Given the description of an element on the screen output the (x, y) to click on. 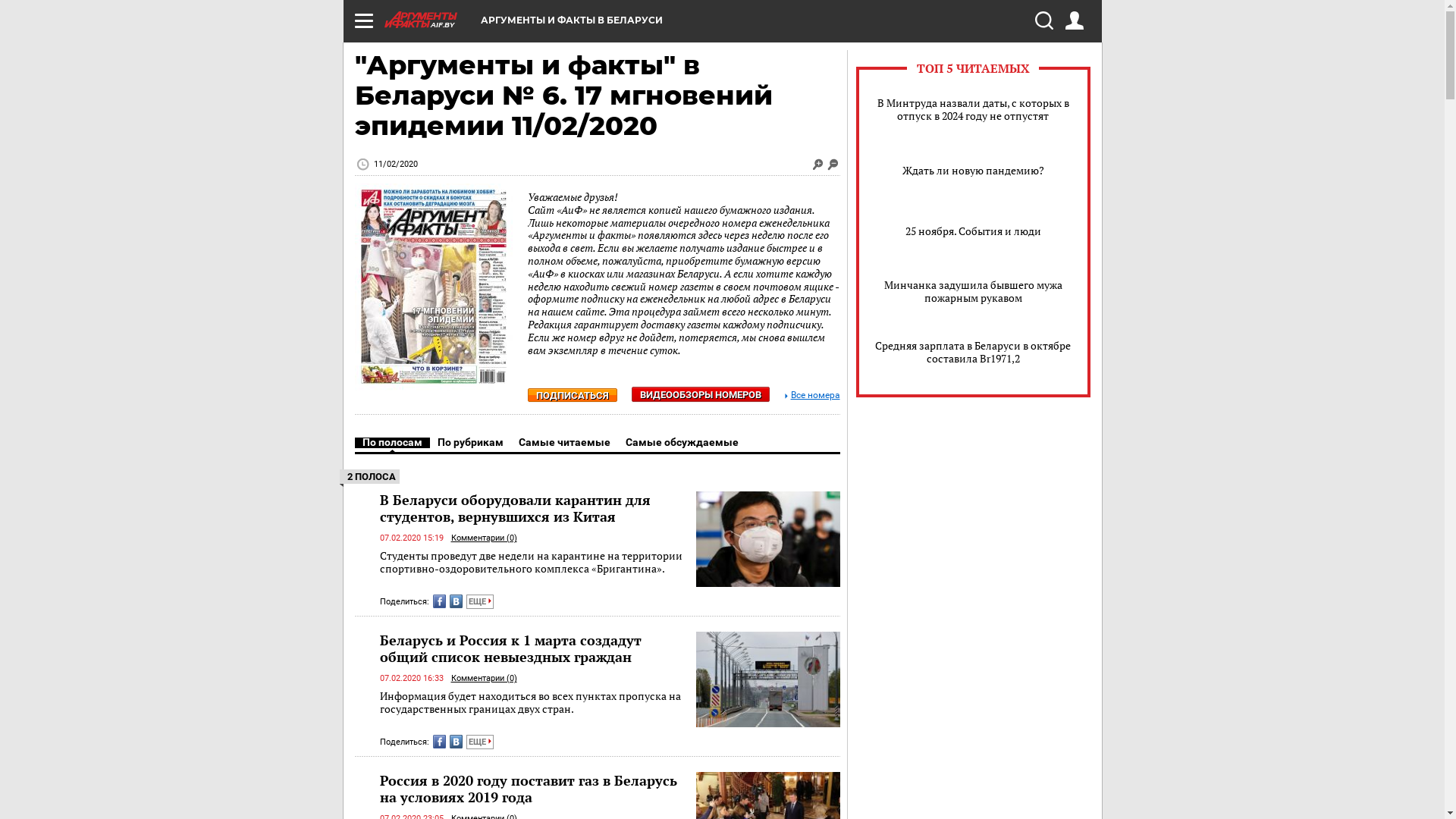
AIF.BY Element type: text (431, 19)
